Given the description of an element on the screen output the (x, y) to click on. 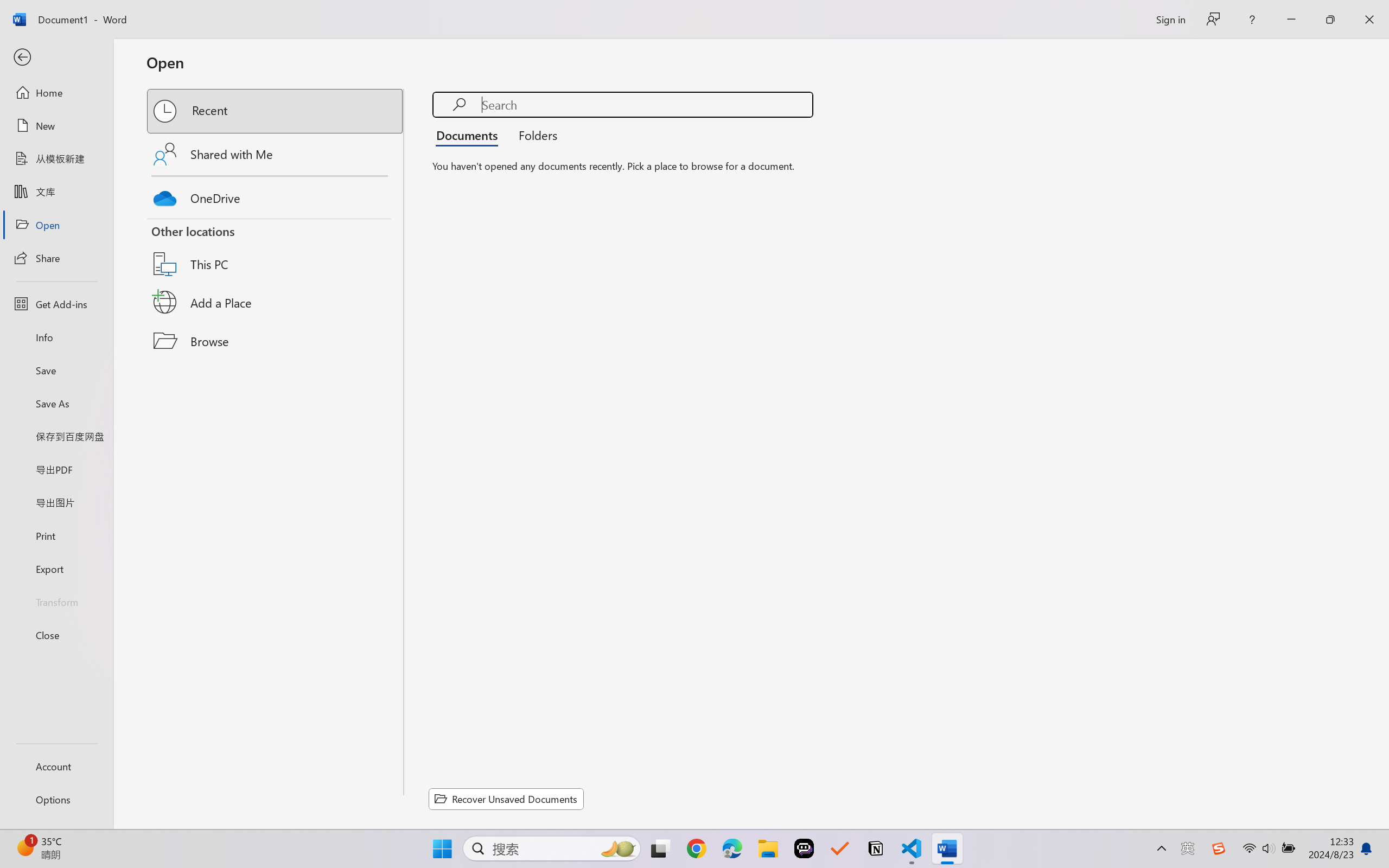
Export (56, 568)
Folders (534, 134)
Shared with Me (275, 153)
Transform (56, 601)
Account (56, 765)
Back (56, 57)
